Given the description of an element on the screen output the (x, y) to click on. 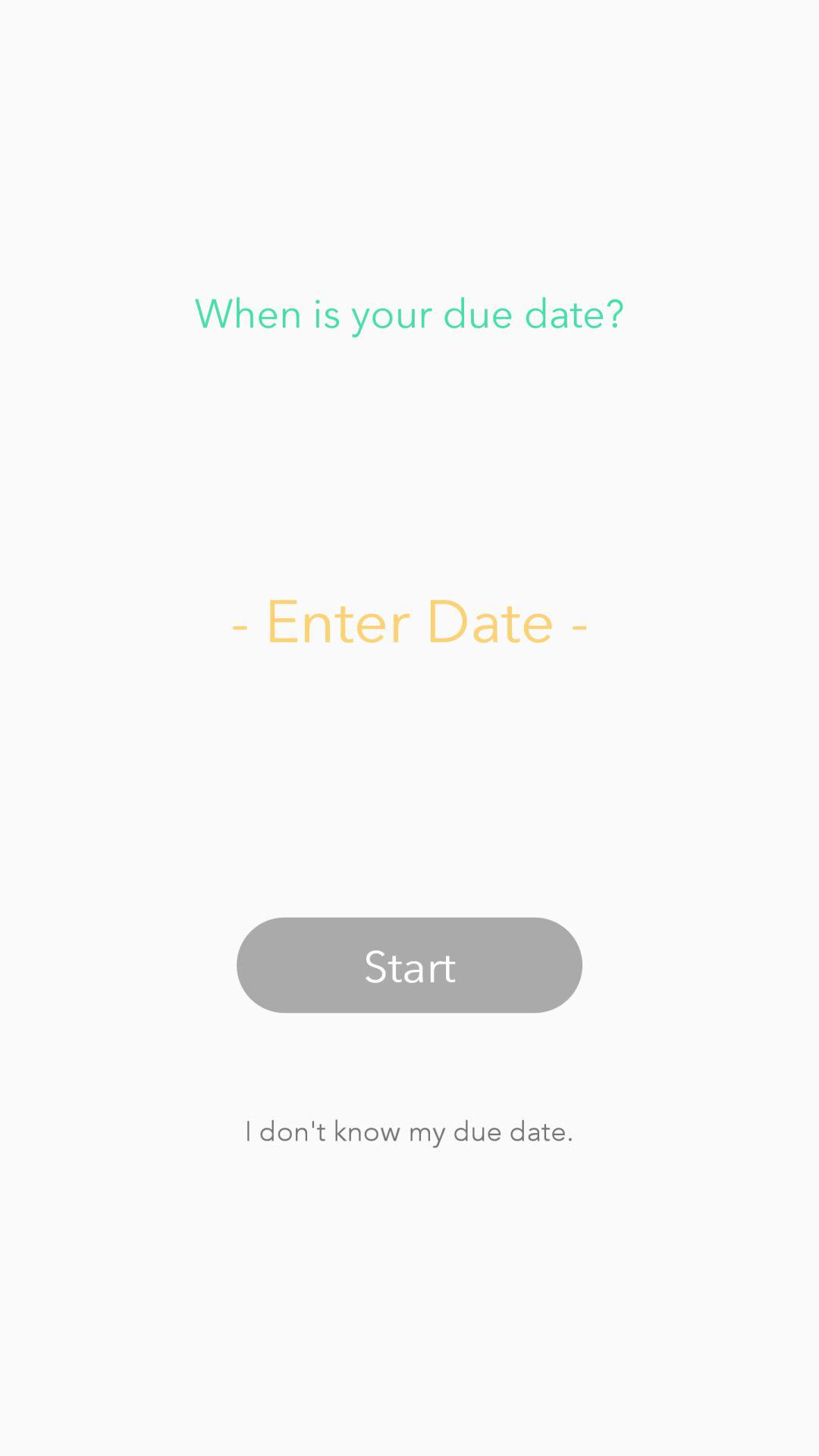
select the item above the start (409, 618)
